Given the description of an element on the screen output the (x, y) to click on. 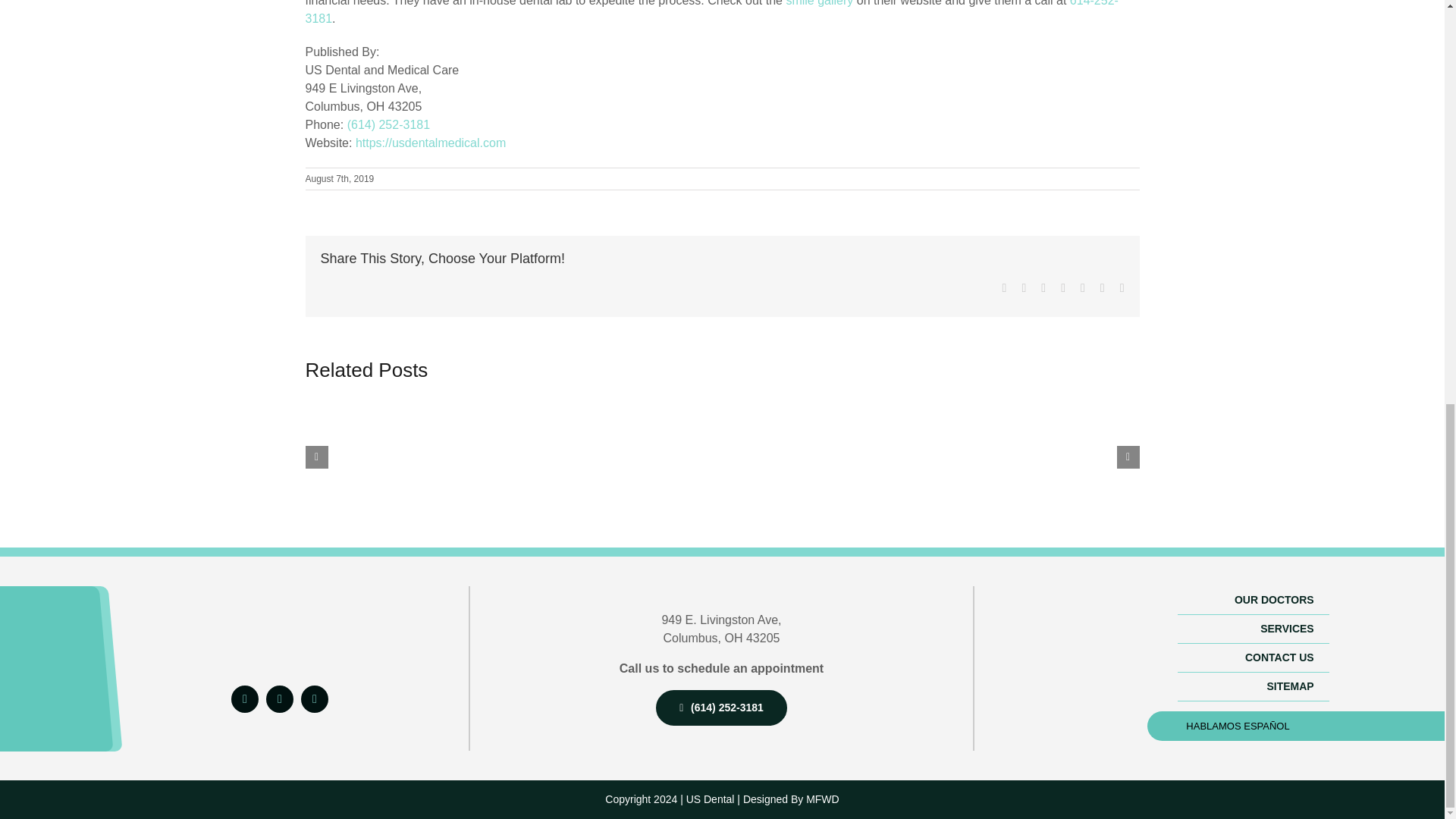
Facebook (245, 698)
Yelp (280, 698)
614-252-3181 (711, 12)
smile gallery (819, 3)
Instagram (315, 698)
